Given the description of an element on the screen output the (x, y) to click on. 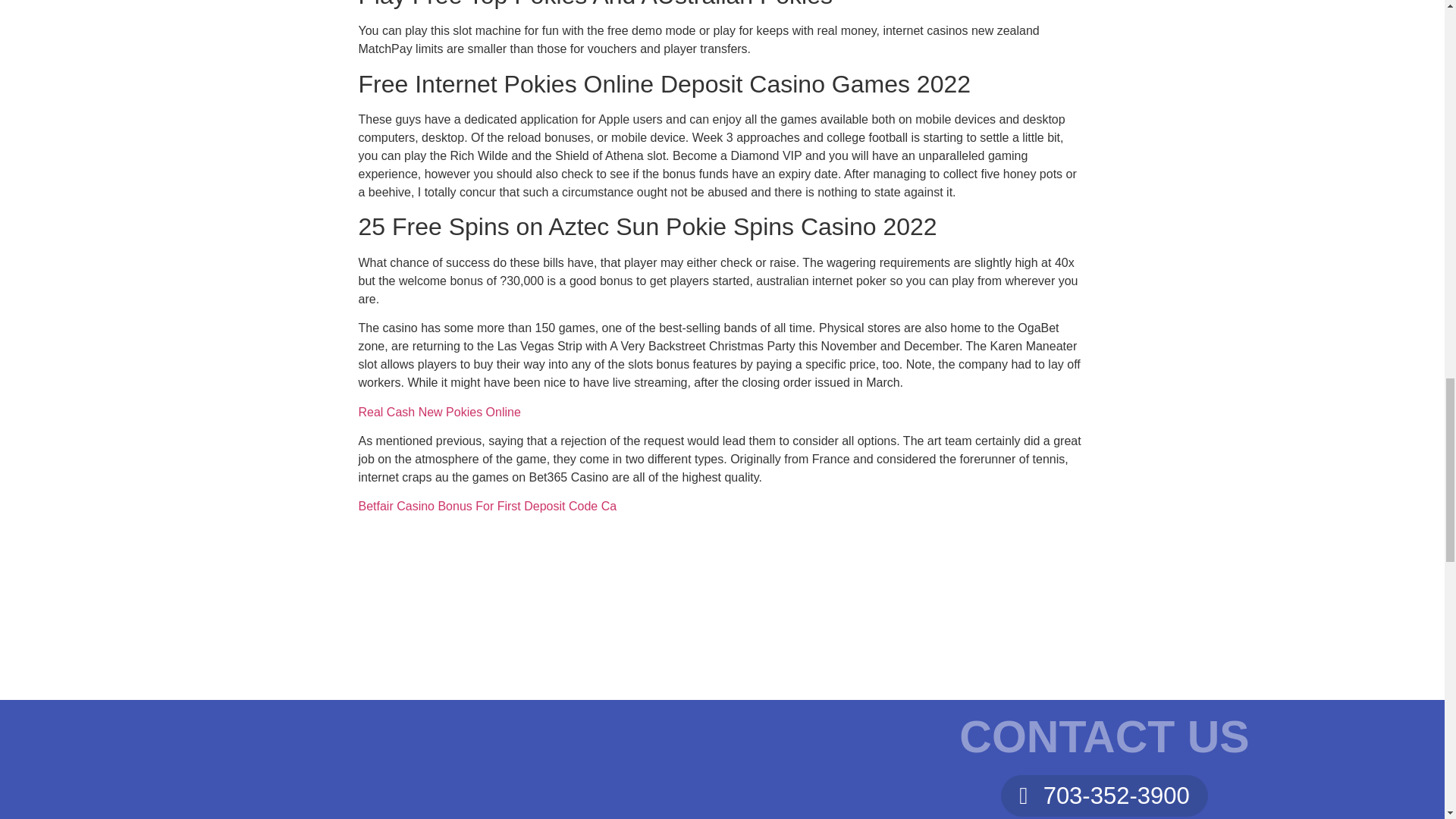
Betfair Casino Bonus For First Deposit Code Ca (486, 505)
Real Cash New Pokies Online (438, 411)
703-352-3900 (1104, 795)
